Given the description of an element on the screen output the (x, y) to click on. 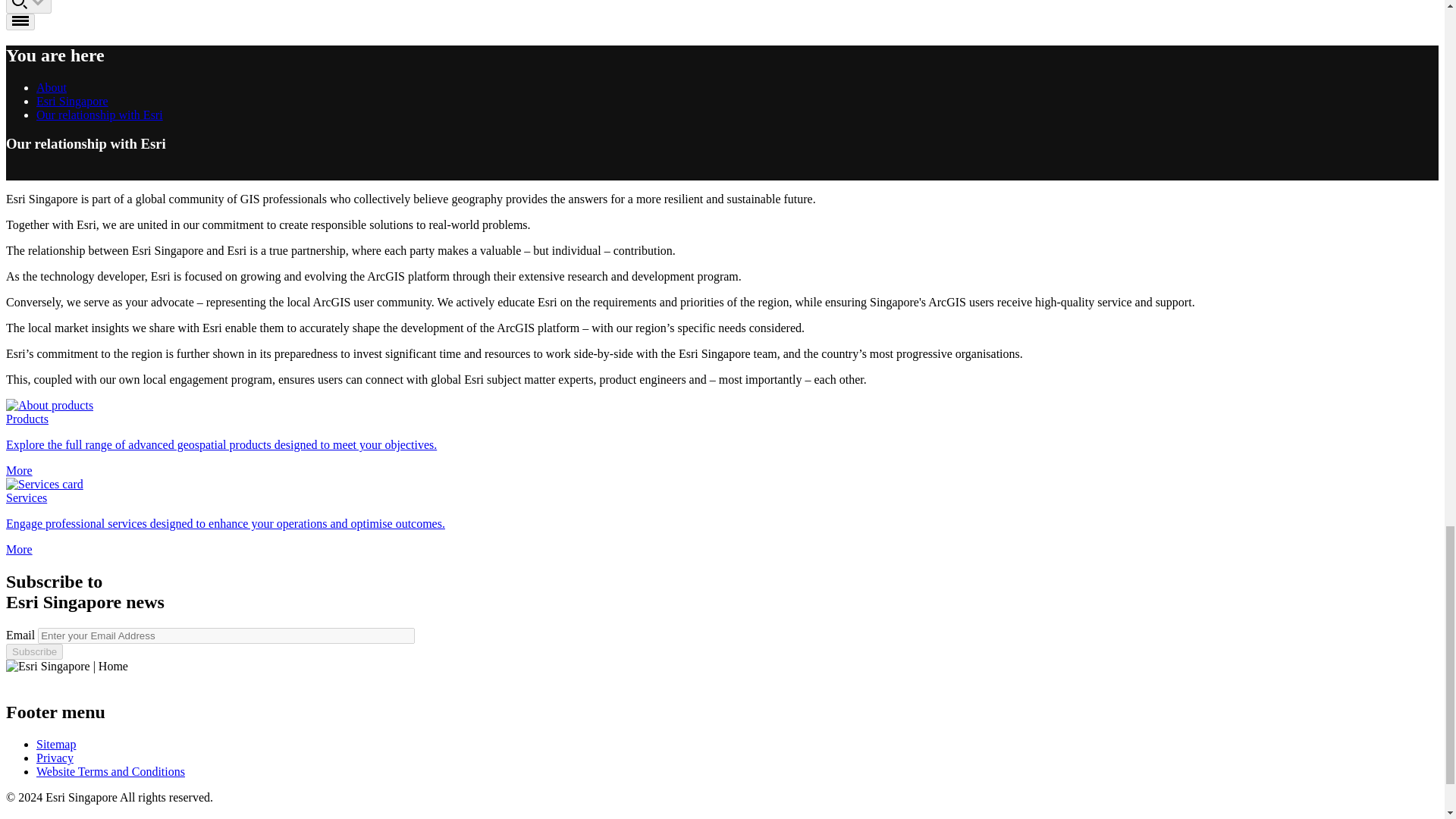
Subscribe (33, 651)
